Given the description of an element on the screen output the (x, y) to click on. 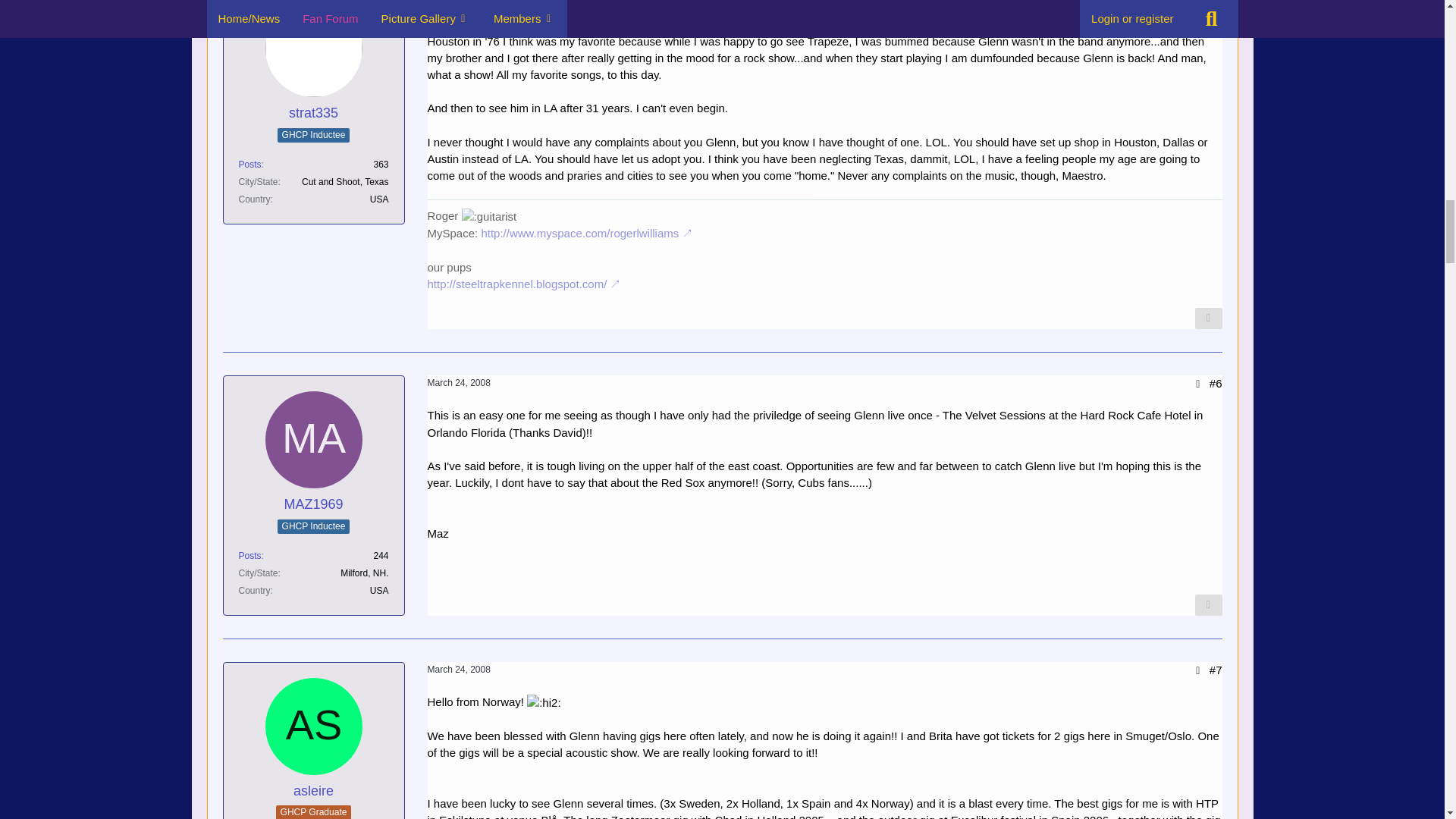
Guitarist (488, 216)
Hi2 (543, 702)
